Given the description of an element on the screen output the (x, y) to click on. 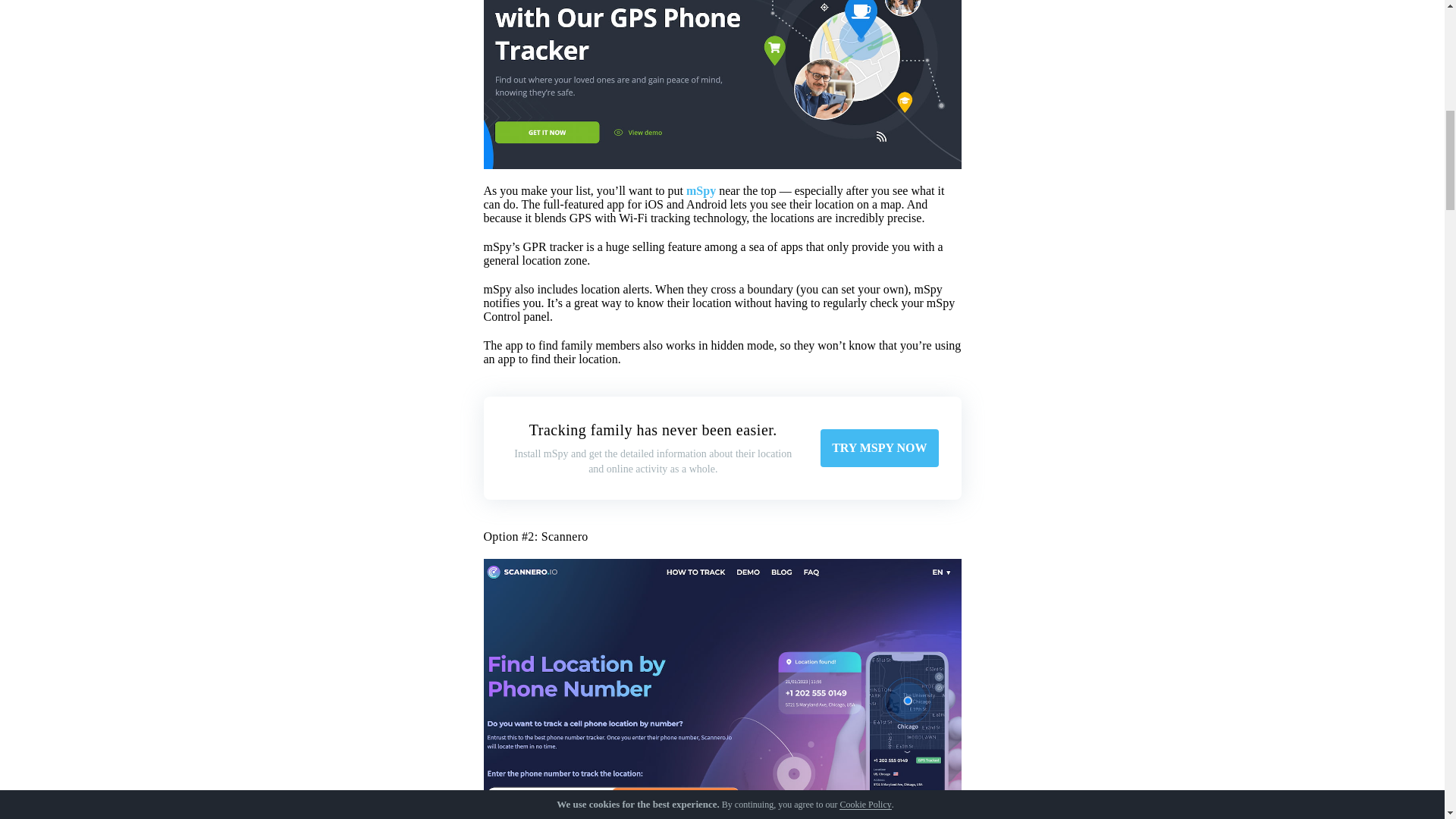
TRY MSPY NOW (879, 447)
mSpy (700, 190)
